Given the description of an element on the screen output the (x, y) to click on. 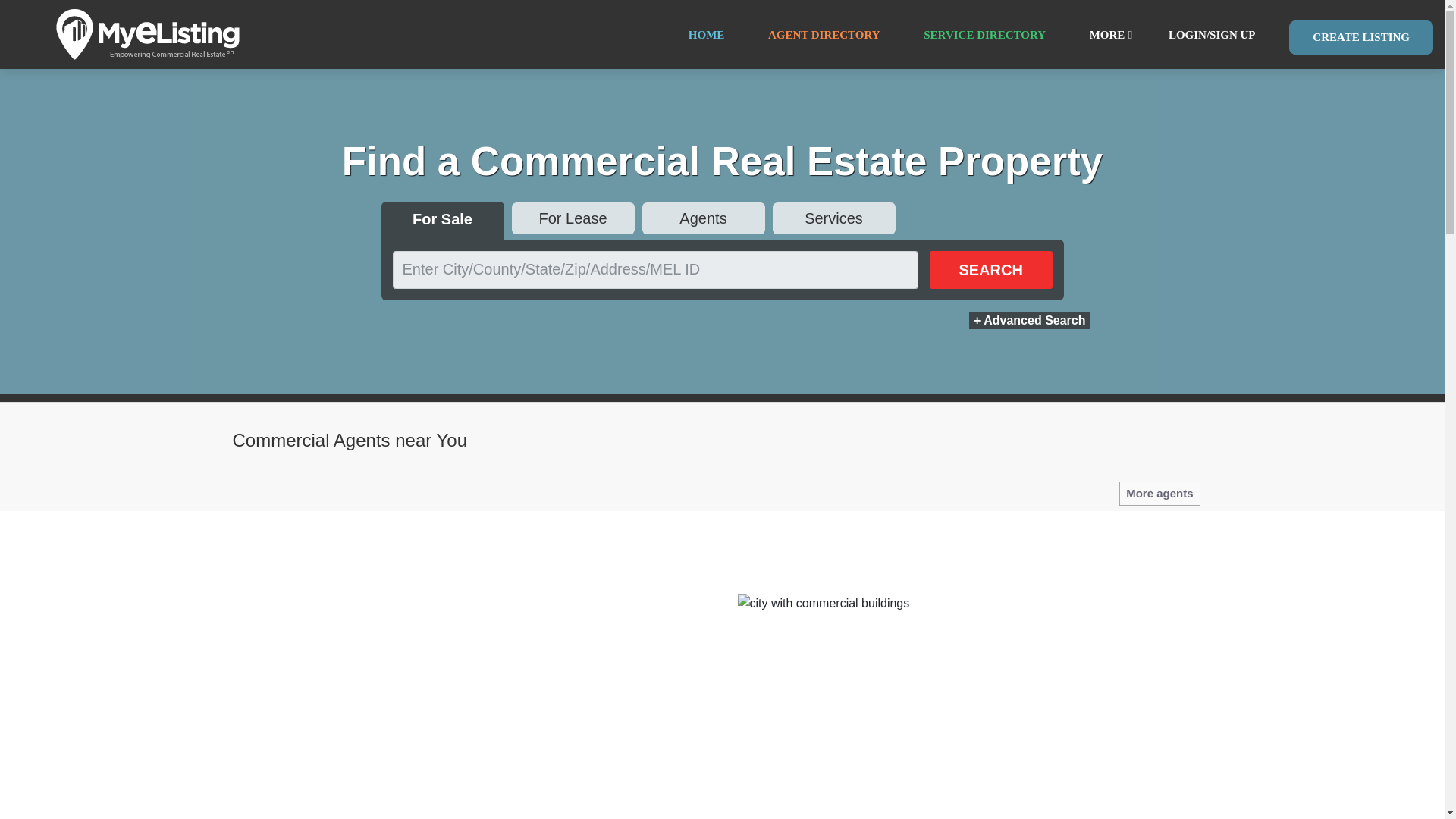
SERVICE DIRECTORY (984, 34)
More agents (1159, 493)
MORE (1107, 34)
CREATE LISTING (1360, 37)
SEARCH (991, 269)
HOME (705, 34)
AGENT DIRECTORY (823, 34)
